Given the description of an element on the screen output the (x, y) to click on. 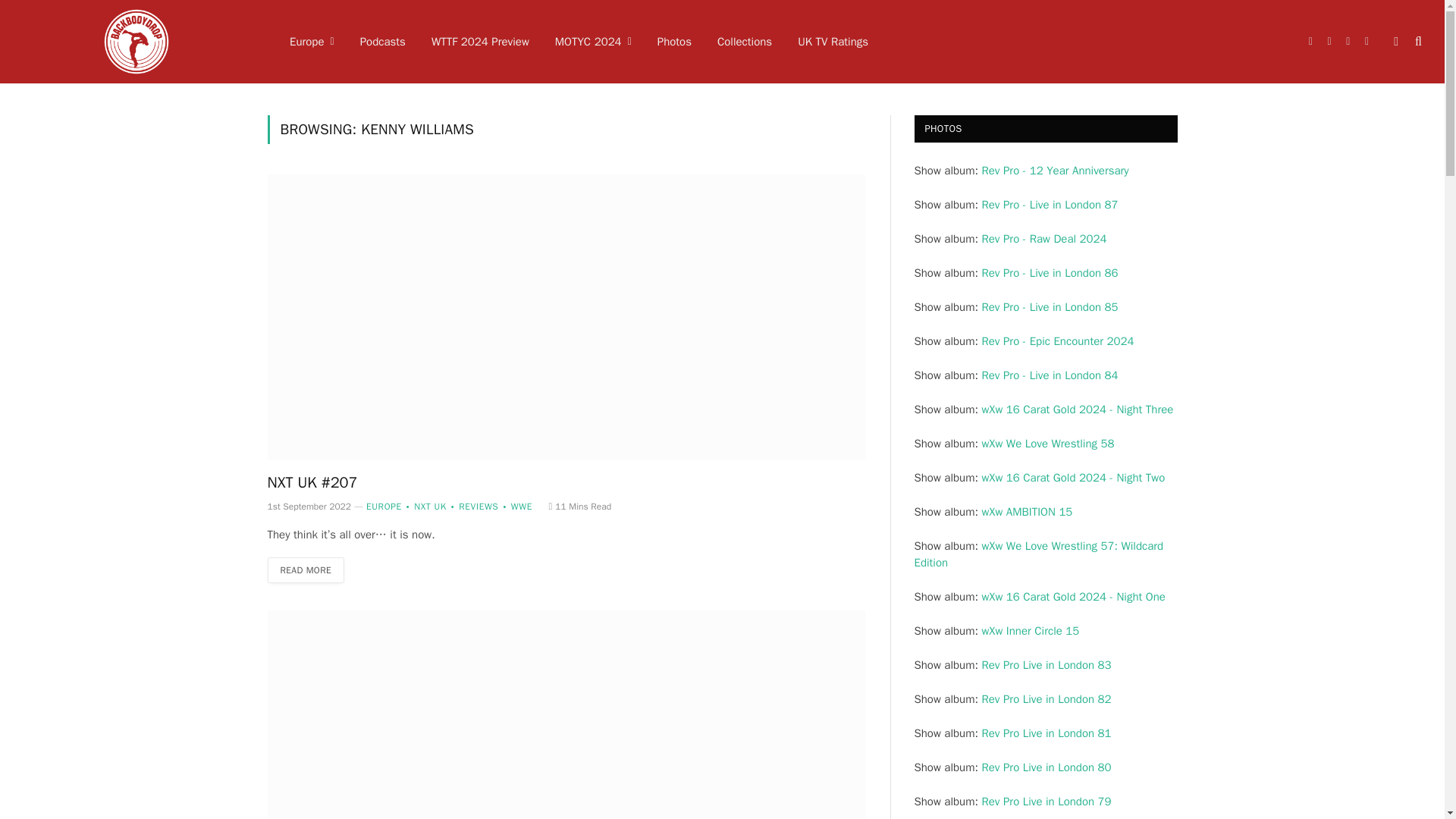
WTTF 2024 Preview (480, 41)
UK TV Ratings (832, 41)
Switch to Dark Design - easier on eyes. (1396, 41)
EUROPE (383, 506)
MOTYC 2024 (593, 41)
REVIEWS (472, 506)
NXT UK (423, 506)
Collections (744, 41)
BackBodyDrop.com (136, 41)
